Given the description of an element on the screen output the (x, y) to click on. 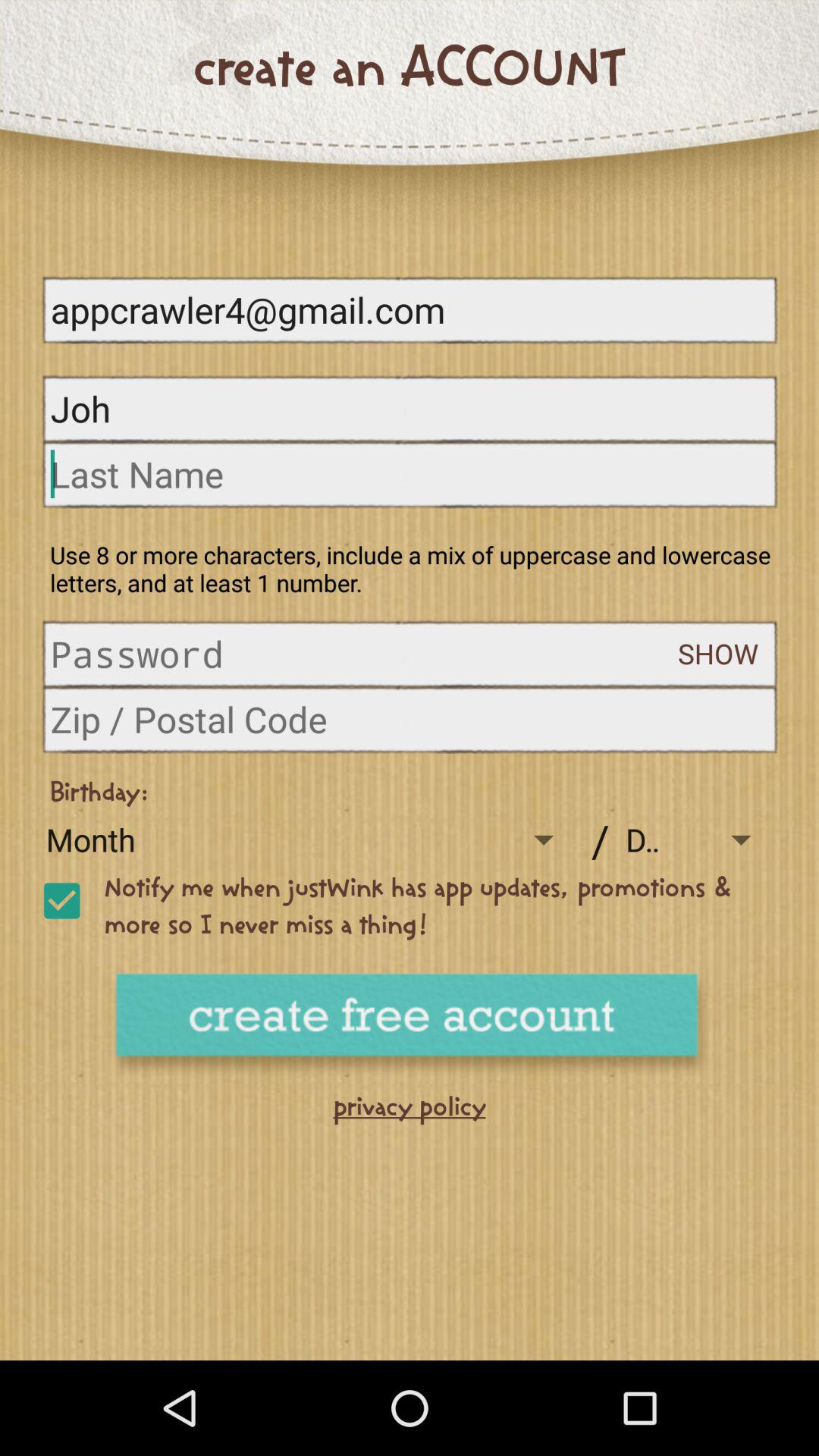
selassie (61, 900)
